Given the description of an element on the screen output the (x, y) to click on. 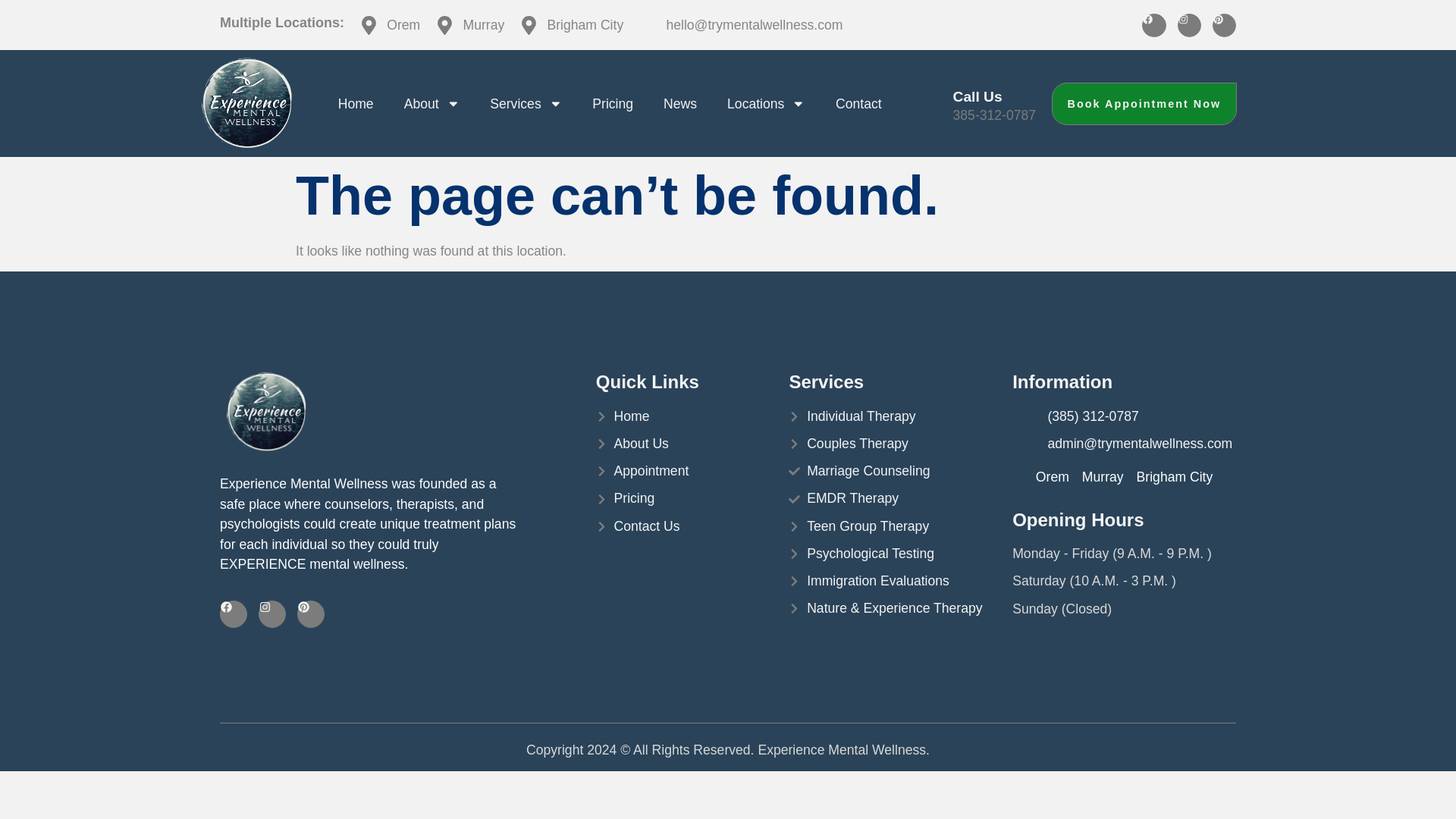
Contact (858, 103)
Murray (469, 25)
Pricing (611, 103)
Brigham City (571, 25)
Locations (766, 103)
About (432, 103)
News (679, 103)
Orem (389, 25)
Services (525, 103)
Home (355, 103)
